Given the description of an element on the screen output the (x, y) to click on. 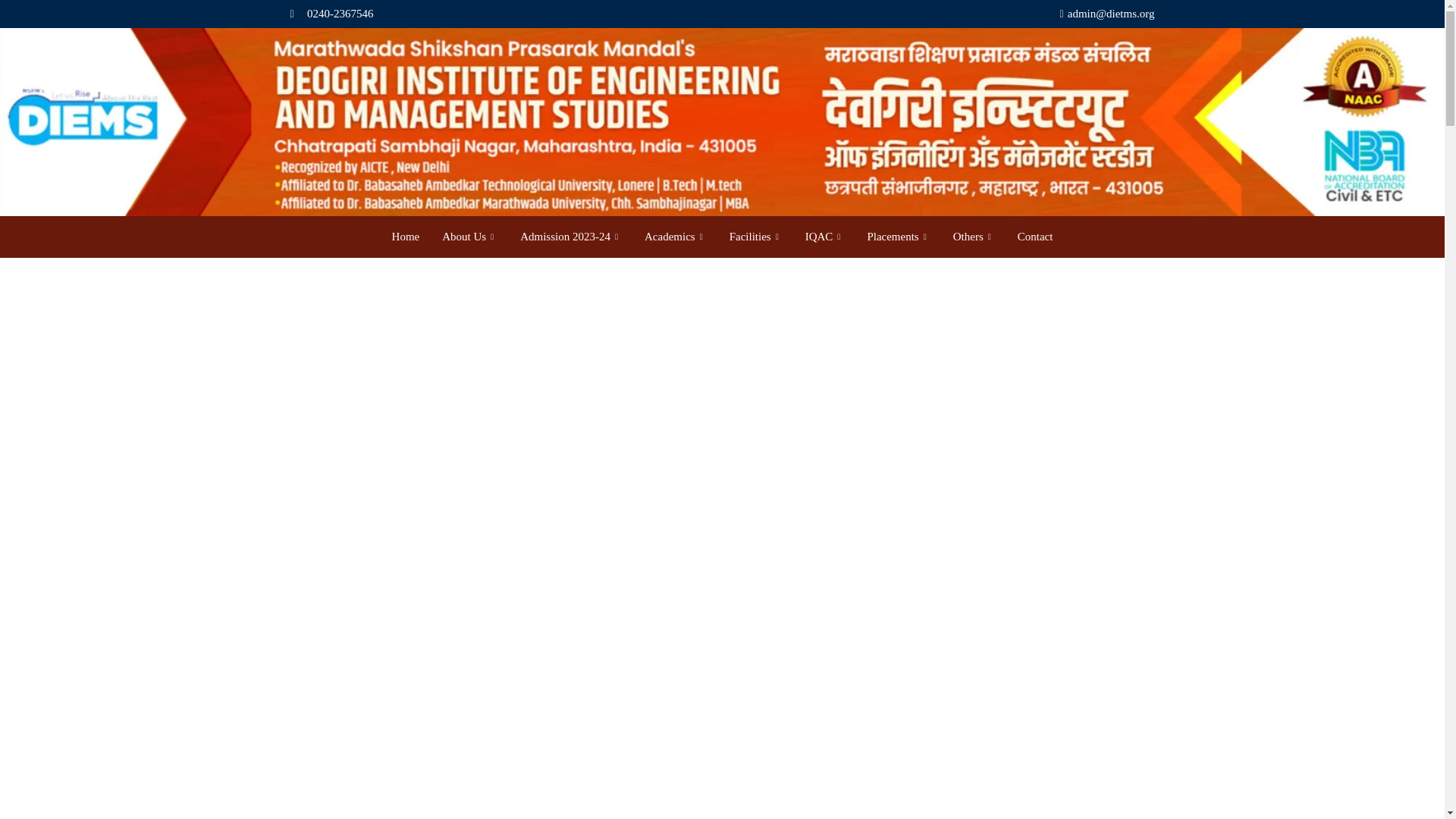
Admission 2023-24 (570, 236)
0240-2367546 (505, 14)
About Us (469, 236)
Academics (675, 236)
Home (405, 236)
